Given the description of an element on the screen output the (x, y) to click on. 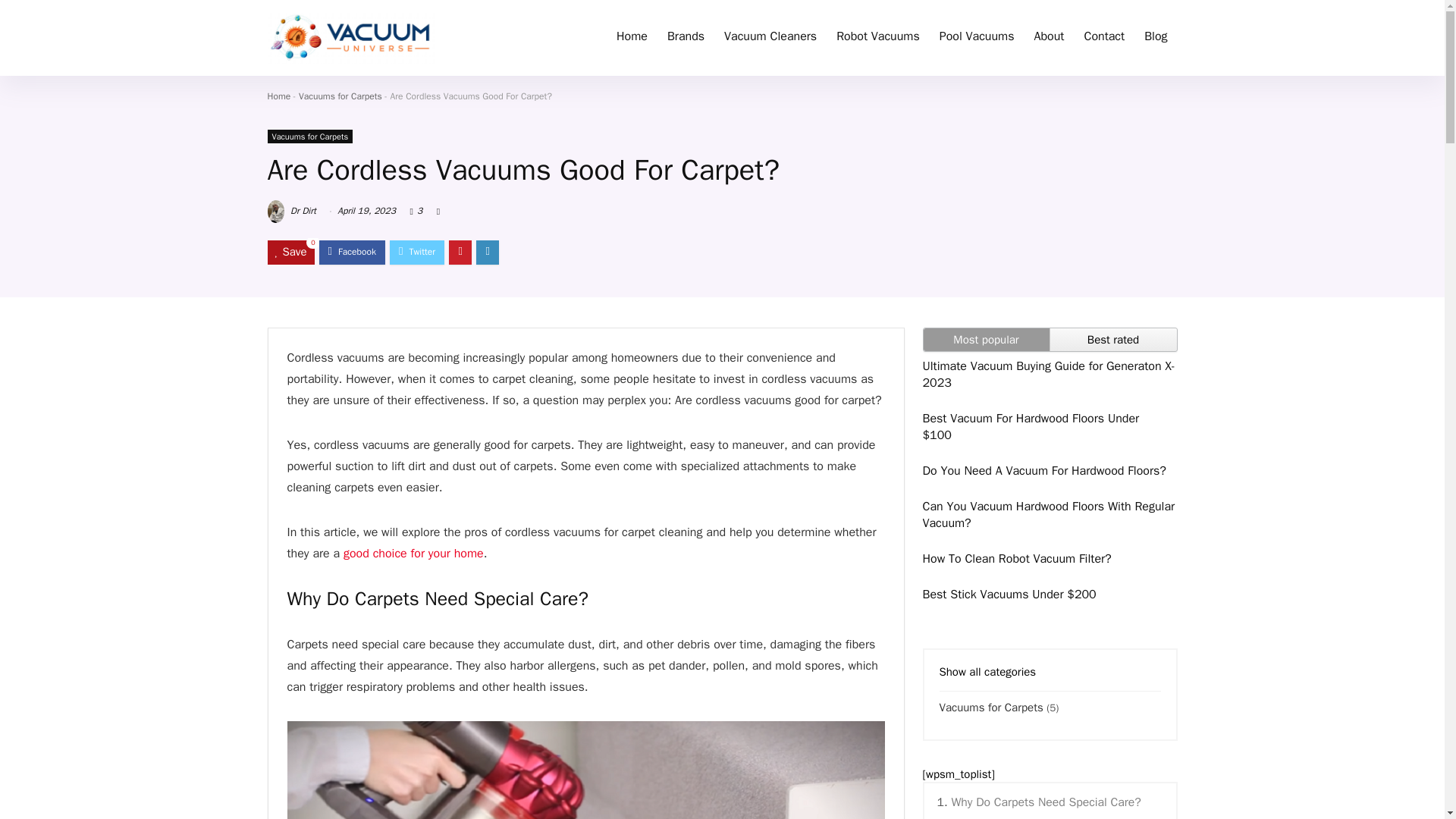
Brands (686, 37)
Vacuum Cleaners (770, 37)
View all posts in Vacuums for Carpets (309, 136)
good choice for your home (413, 553)
Home (277, 96)
Vacuums for Carpets (309, 136)
Blog (1155, 37)
Vacuums for Carpets (339, 96)
Pool Vacuums (977, 37)
Dr Dirt (290, 210)
